Given the description of an element on the screen output the (x, y) to click on. 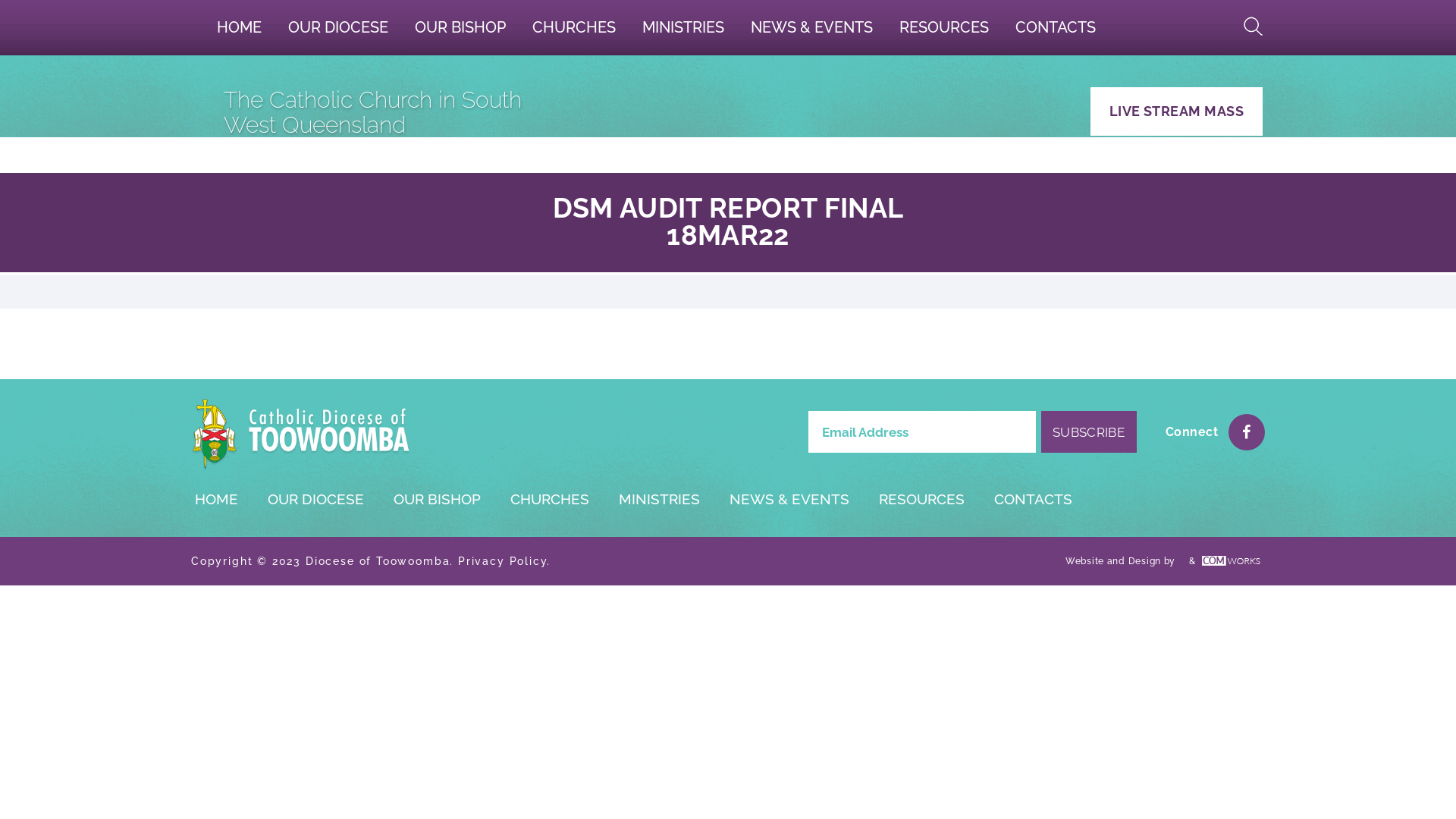
search Element type: text (1253, 26)
CONTACTS Element type: text (1032, 498)
Subscribe Element type: text (1088, 431)
OUR BISHOP Element type: text (436, 498)
MINISTRIES Element type: text (683, 27)
MINISTRIES Element type: text (658, 498)
RESOURCES Element type: text (944, 27)
CHURCHES Element type: text (549, 498)
HOME Element type: text (239, 27)
CONTACTS Element type: text (1055, 27)
CHURCHES Element type: text (574, 27)
OUR DIOCESE Element type: text (315, 498)
RESOURCES Element type: text (921, 498)
OUR DIOCESE Element type: text (338, 27)
LIVE STREAM MASS Element type: text (1176, 111)
NEWS & EVENTS Element type: text (811, 27)
OUR BISHOP Element type: text (460, 27)
NEWS & EVENTS Element type: text (788, 498)
Privacy Policy Element type: text (502, 561)
HOME Element type: text (215, 498)
